Given the description of an element on the screen output the (x, y) to click on. 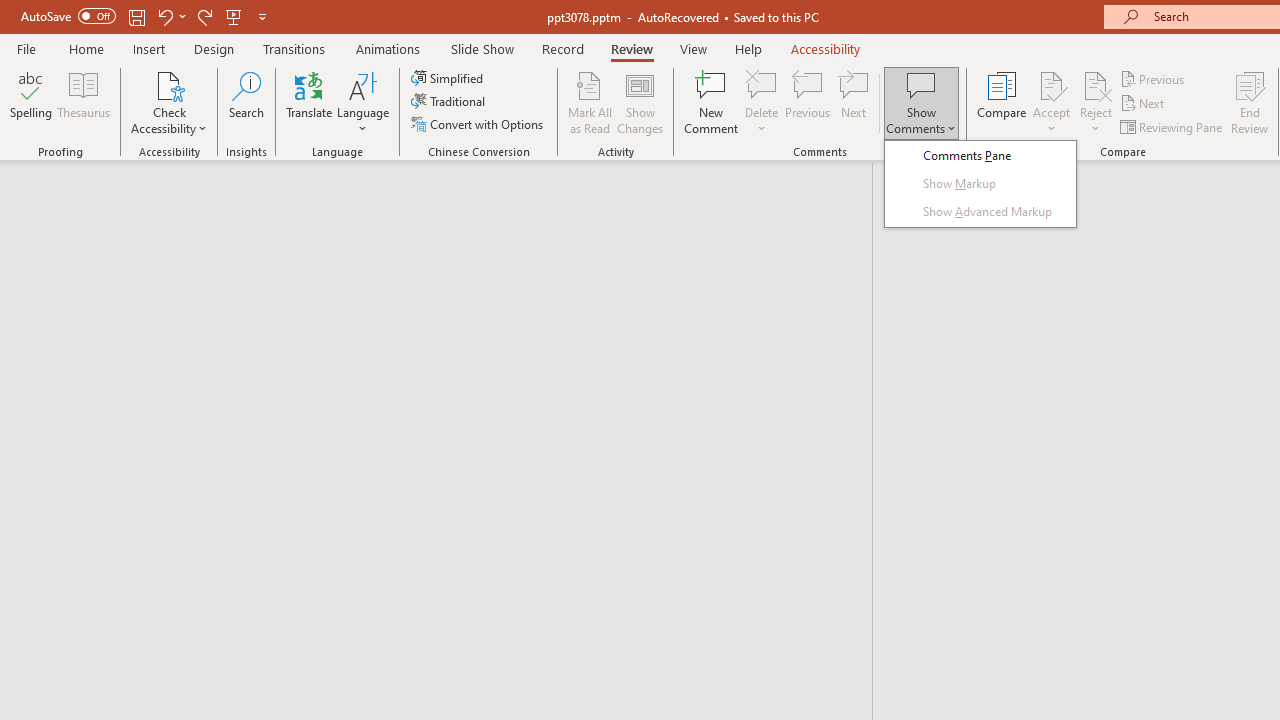
Next (1144, 103)
Thesaurus... (83, 102)
